Given the description of an element on the screen output the (x, y) to click on. 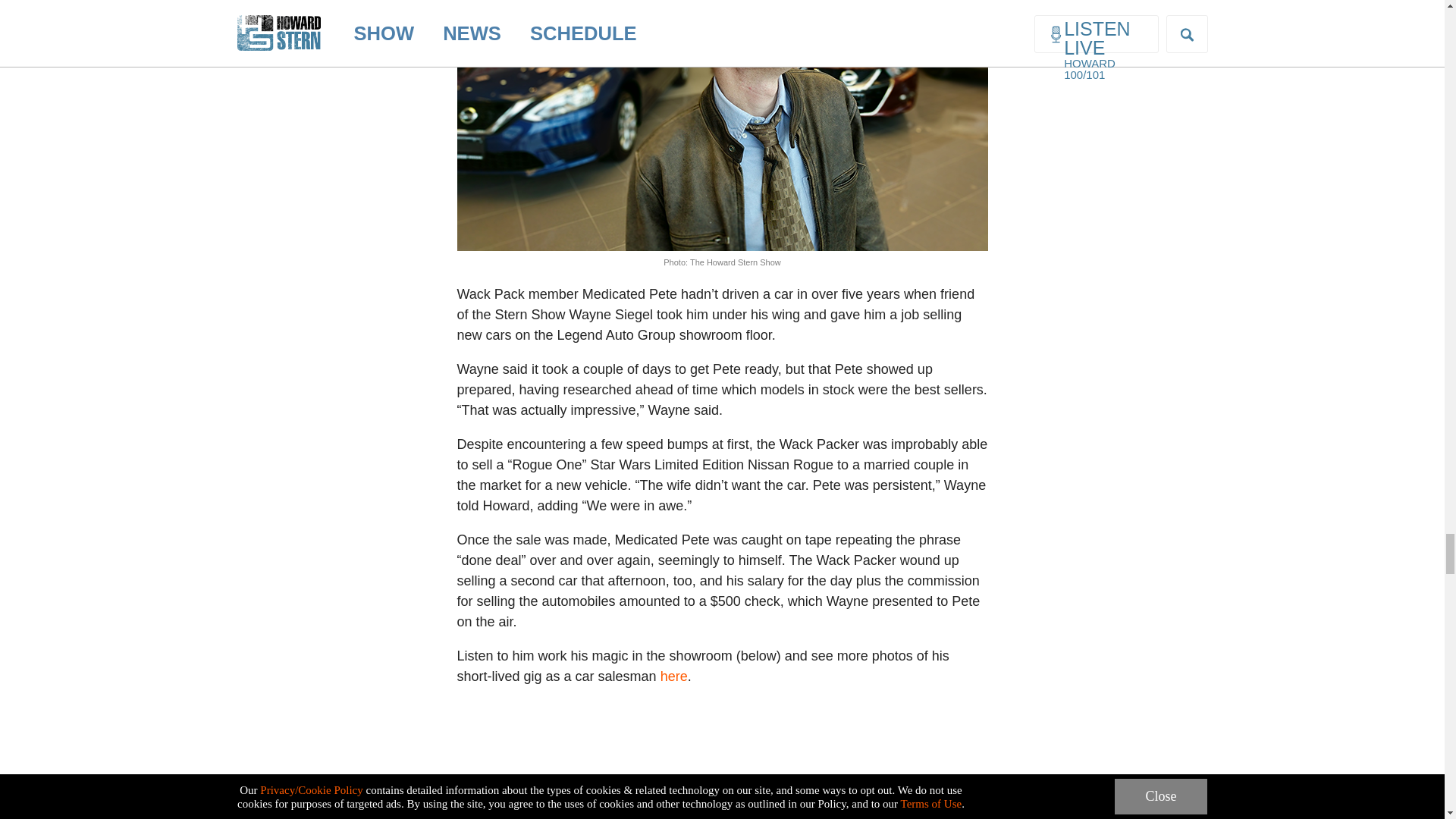
here (674, 676)
